Given the description of an element on the screen output the (x, y) to click on. 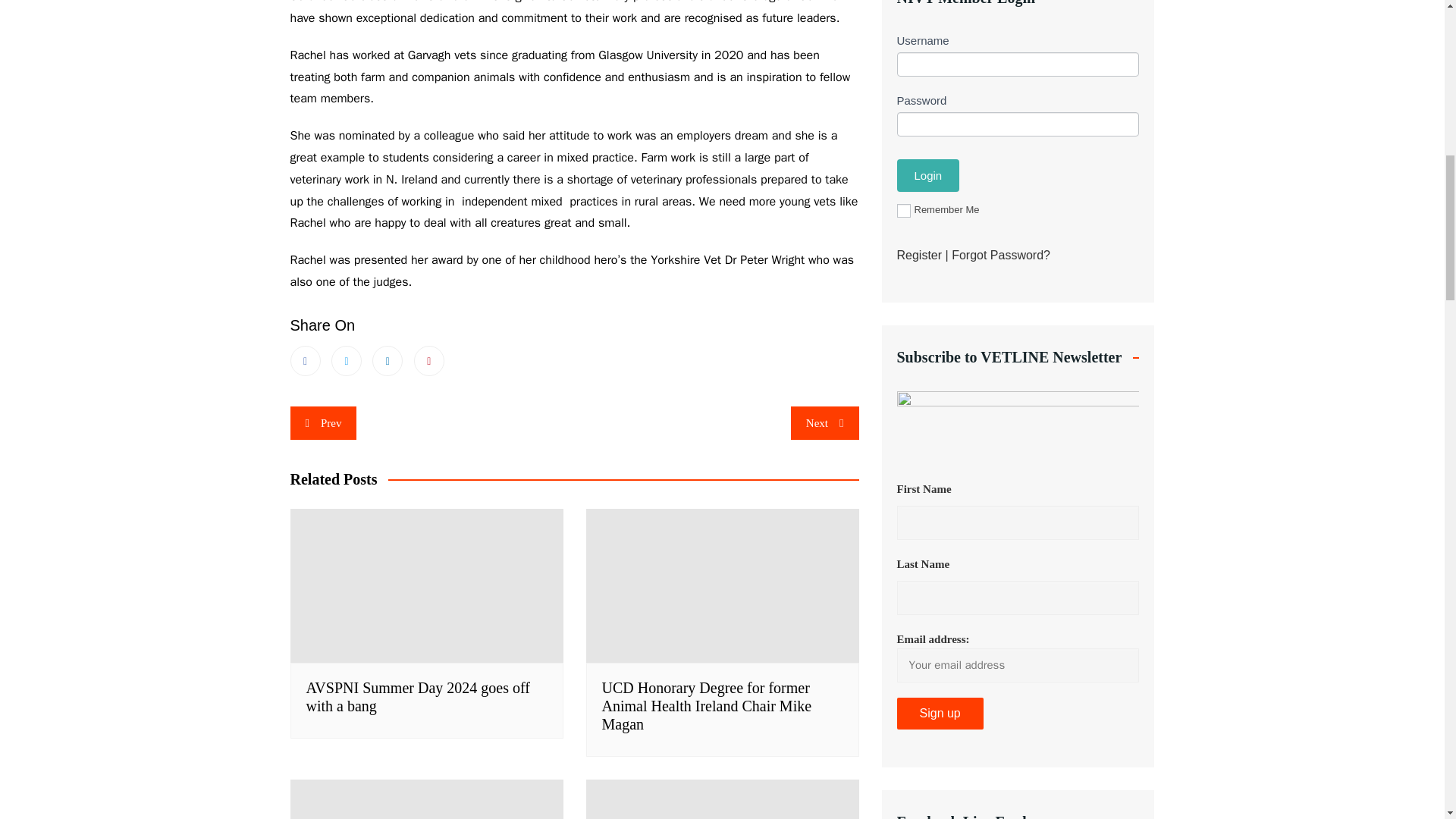
Sign up (939, 713)
Login (927, 174)
forever (903, 210)
